Given the description of an element on the screen output the (x, y) to click on. 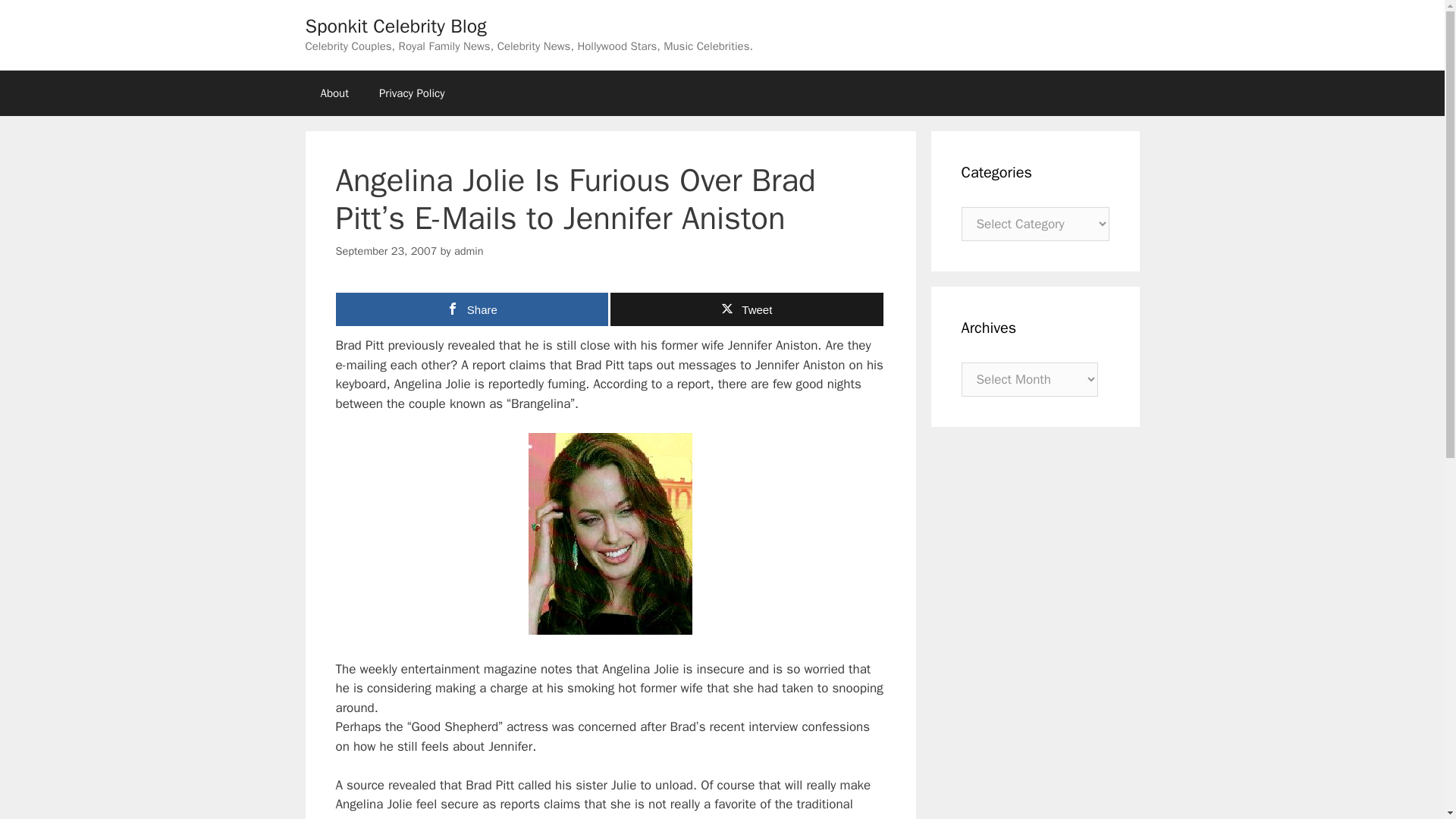
Tweet (746, 308)
admin (468, 250)
View all posts by admin (468, 250)
Sponkit Celebrity Blog (395, 25)
About (333, 92)
Privacy Policy (412, 92)
Share (471, 308)
